Given the description of an element on the screen output the (x, y) to click on. 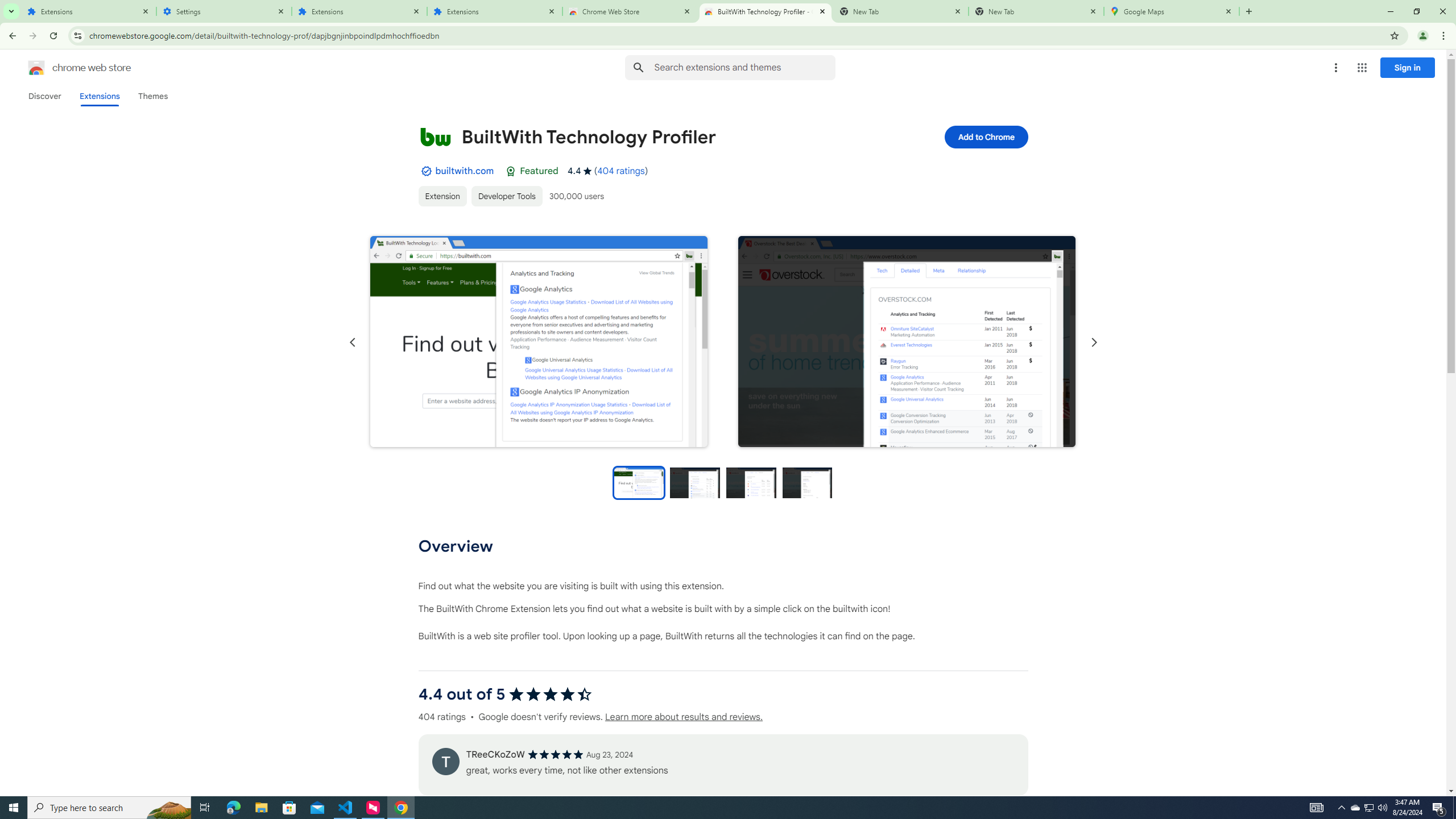
New Tab (1036, 11)
4.4 out of 5 stars (549, 693)
Add to Chrome (985, 136)
Preview slide 4 (807, 482)
Google Maps (1171, 11)
Themes (152, 95)
Discover (43, 95)
Extension (442, 195)
